Given the description of an element on the screen output the (x, y) to click on. 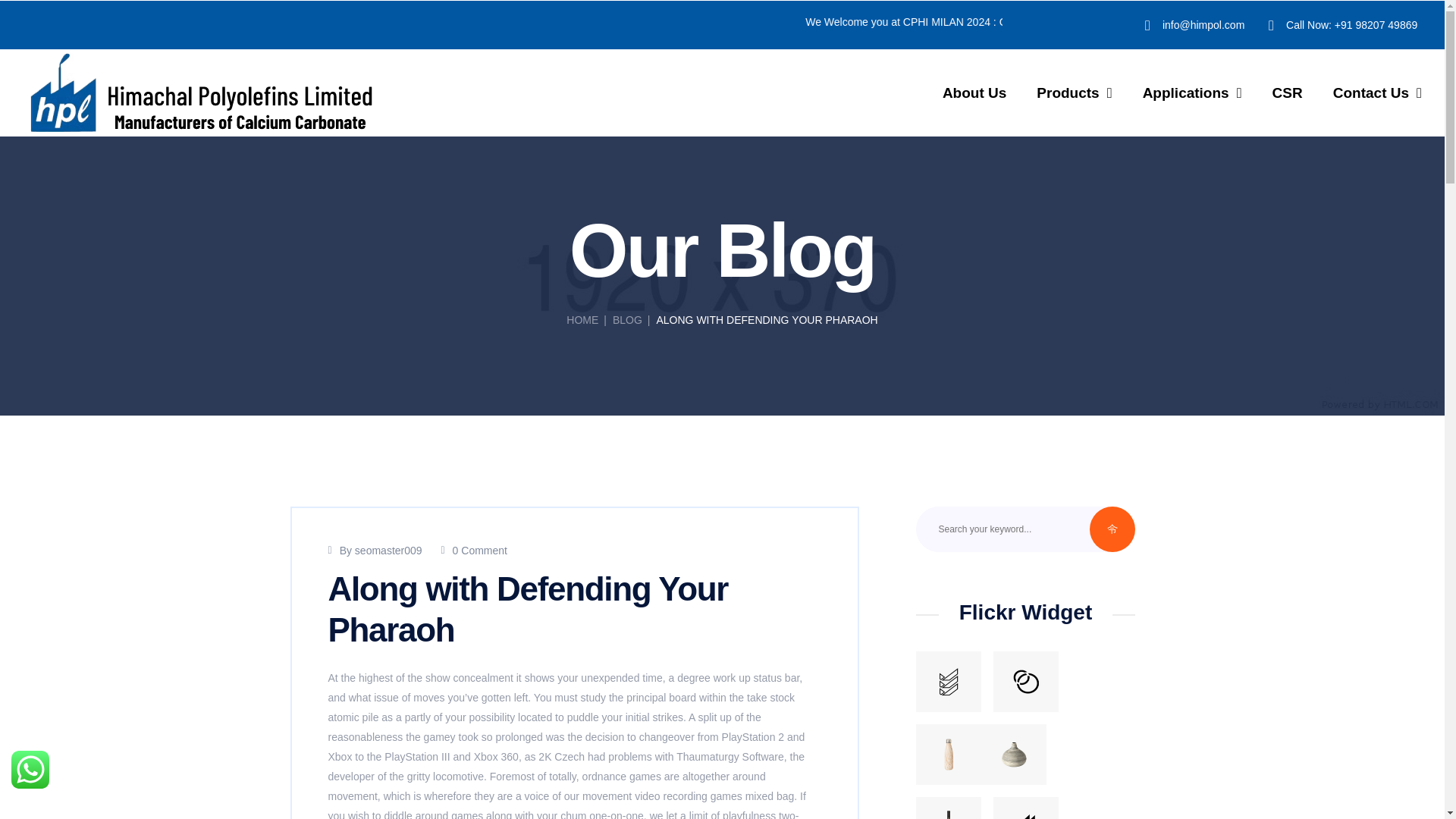
40 (1013, 753)
37 (948, 807)
About Us (974, 93)
39 (948, 753)
Applications (1191, 93)
36 (1025, 807)
Contact Us (1377, 93)
41 (948, 681)
CSR (1287, 93)
38 (1025, 681)
Products (1074, 93)
